Given the description of an element on the screen output the (x, y) to click on. 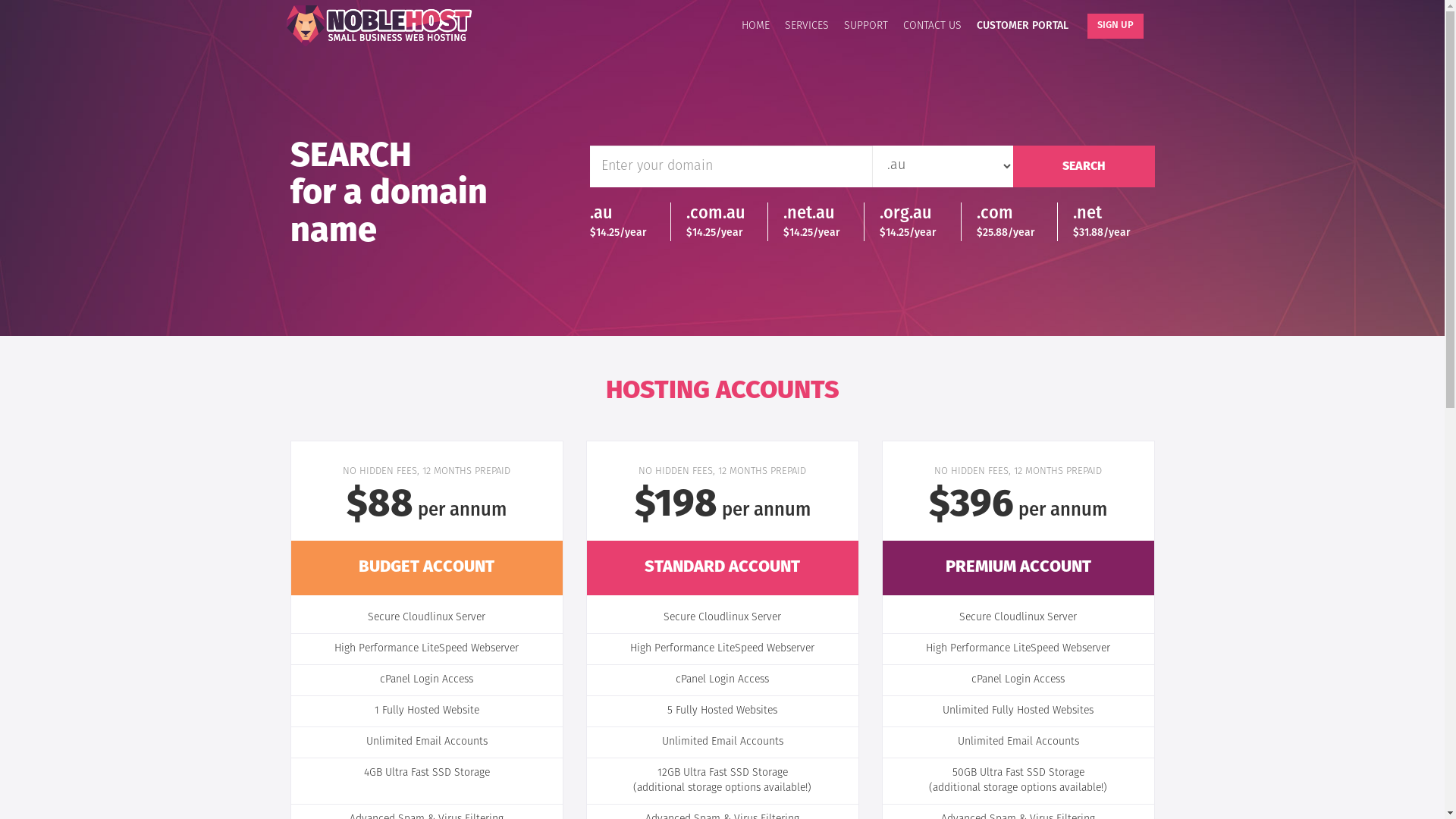
SIGN UP Element type: text (1115, 25)
HOME Element type: text (755, 24)
SERVICES Element type: text (805, 24)
SEARCH Element type: text (1083, 166)
CONTACT US Element type: text (931, 24)
SUPPORT Element type: text (864, 24)
CUSTOMER PORTAL Element type: text (1022, 24)
